Given the description of an element on the screen output the (x, y) to click on. 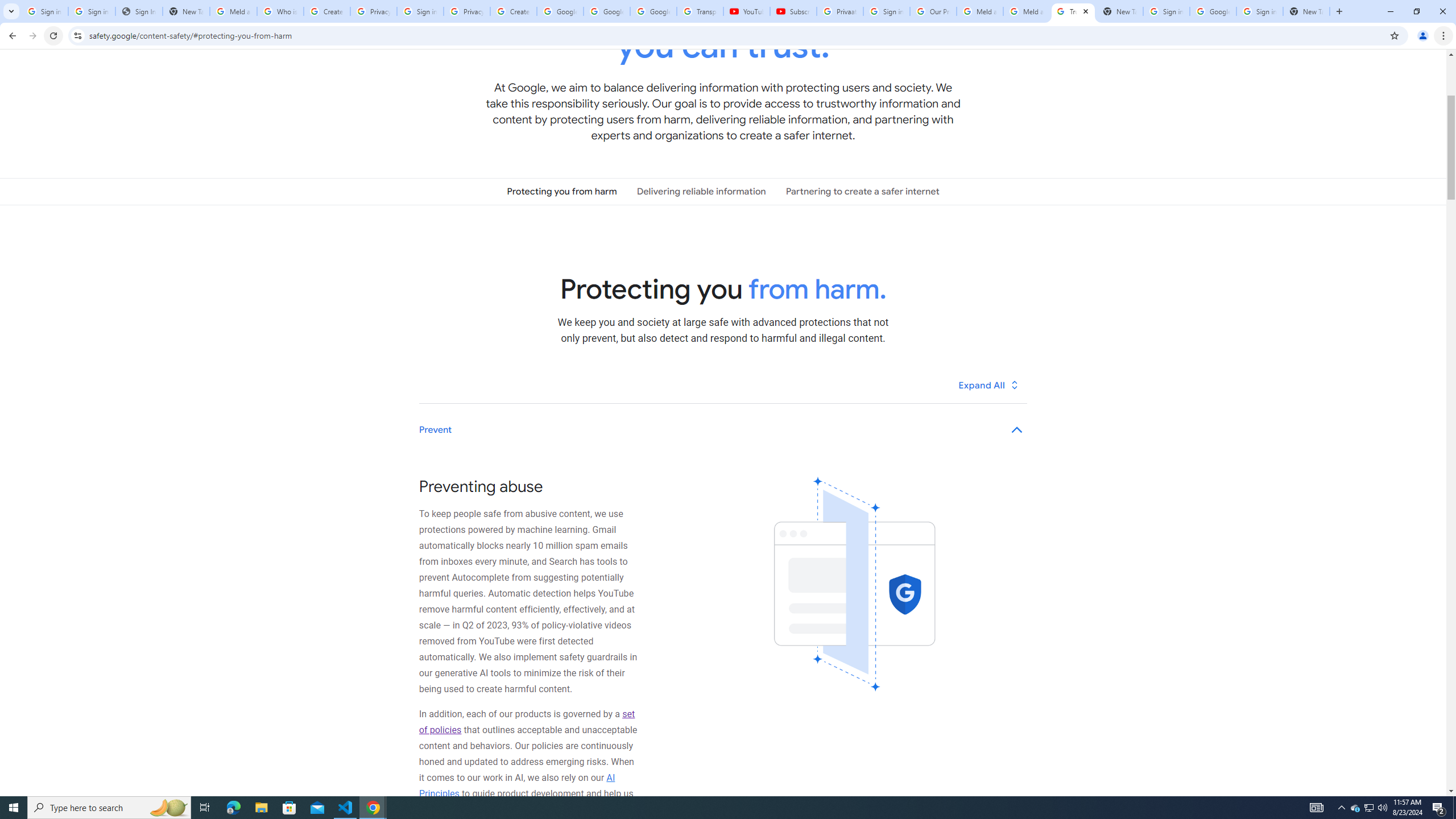
Sign in - Google Accounts (1166, 11)
Sign in - Google Accounts (91, 11)
Sign in - Google Accounts (886, 11)
Sign in - Google Accounts (1259, 11)
set of policies (526, 721)
New Tab (1306, 11)
AI Principles (517, 785)
Google Account (652, 11)
